Given the description of an element on the screen output the (x, y) to click on. 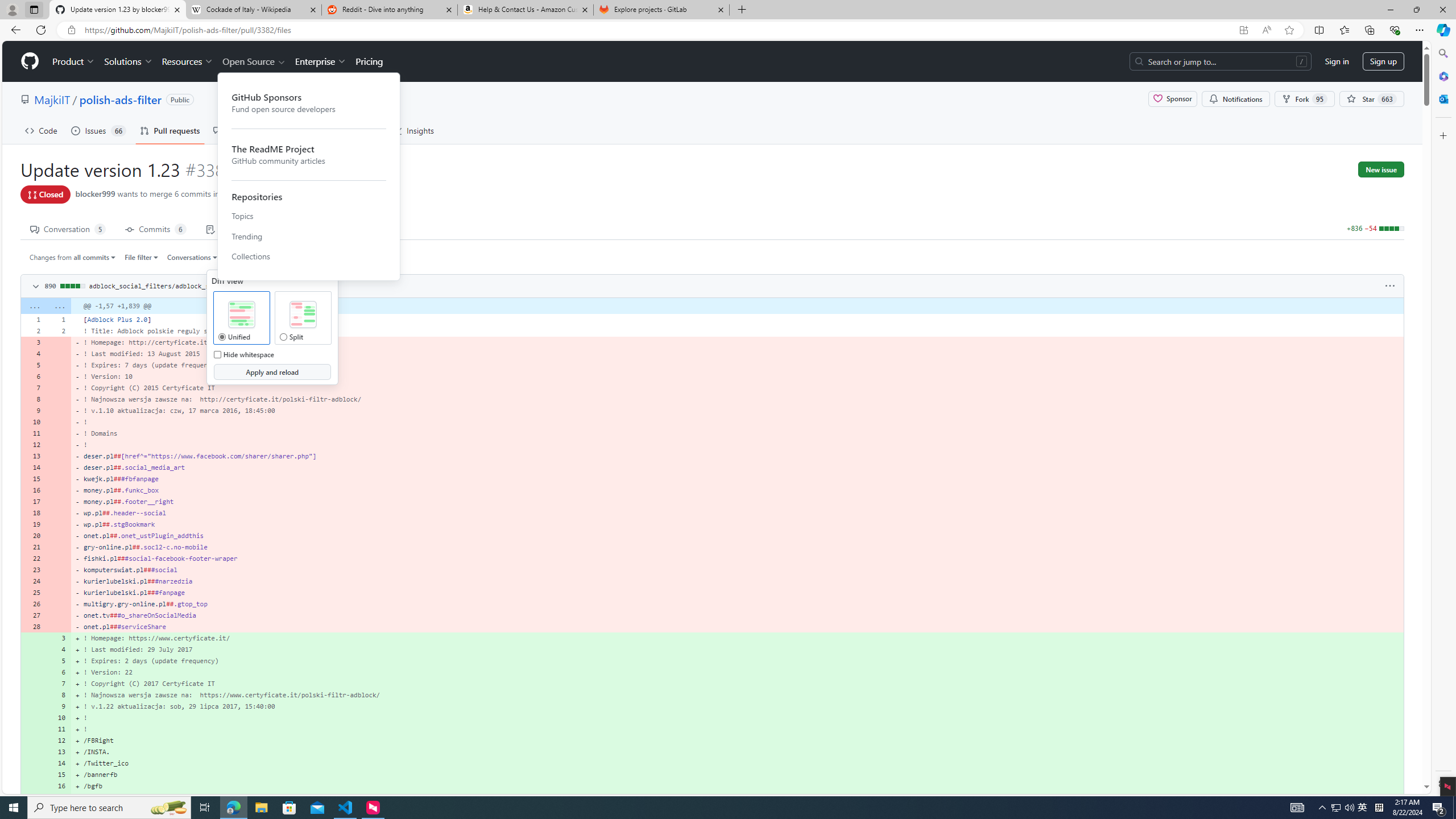
Fork 95 (1304, 98)
28 (33, 626)
Class: blob-num blob-num-addition empty-cell (33, 797)
- wp.pl##.header--social (737, 512)
13 (58, 751)
- ! Domains (737, 432)
Split Diff View (302, 314)
Show options (1390, 285)
- gry-online.pl##.soc12-c.no-mobile (737, 546)
 Star 663 (1371, 98)
Copy (270, 284)
 Files changed 1 (317, 228)
